Given the description of an element on the screen output the (x, y) to click on. 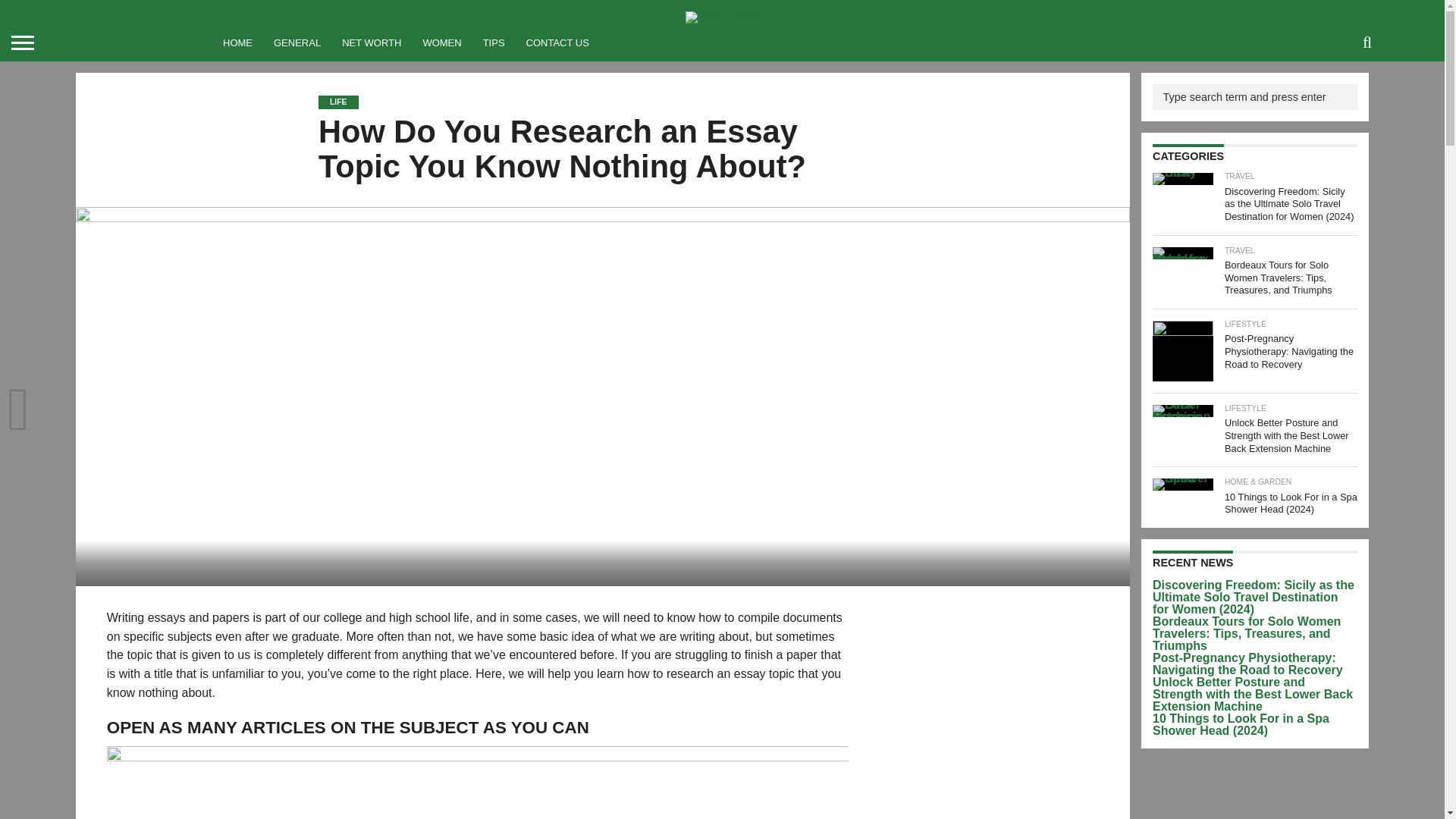
NET WORTH (371, 42)
TIPS (493, 42)
CONTACT US (557, 42)
GENERAL (297, 42)
HOME (237, 42)
Type search term and press enter (1254, 96)
WOMEN (441, 42)
